Given the description of an element on the screen output the (x, y) to click on. 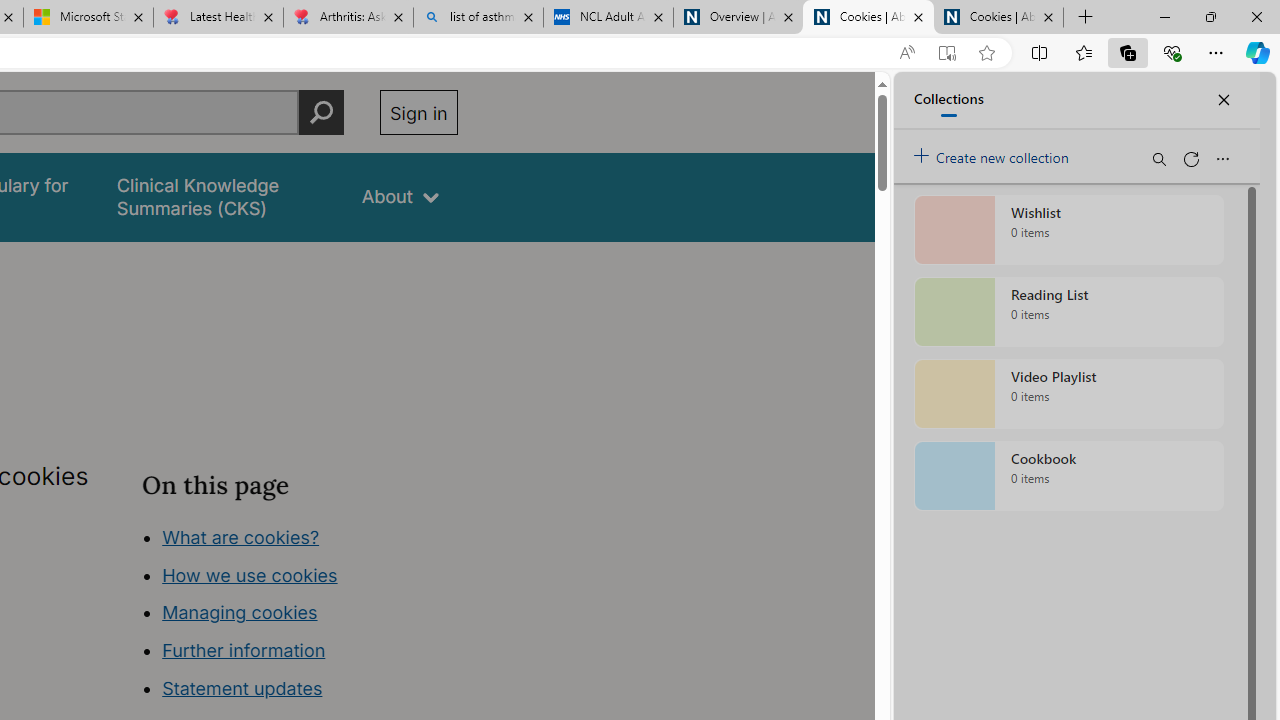
How we use cookies (249, 574)
Managing cookies (239, 612)
What are cookies? (241, 536)
Perform search (321, 112)
false (221, 196)
